Given the description of an element on the screen output the (x, y) to click on. 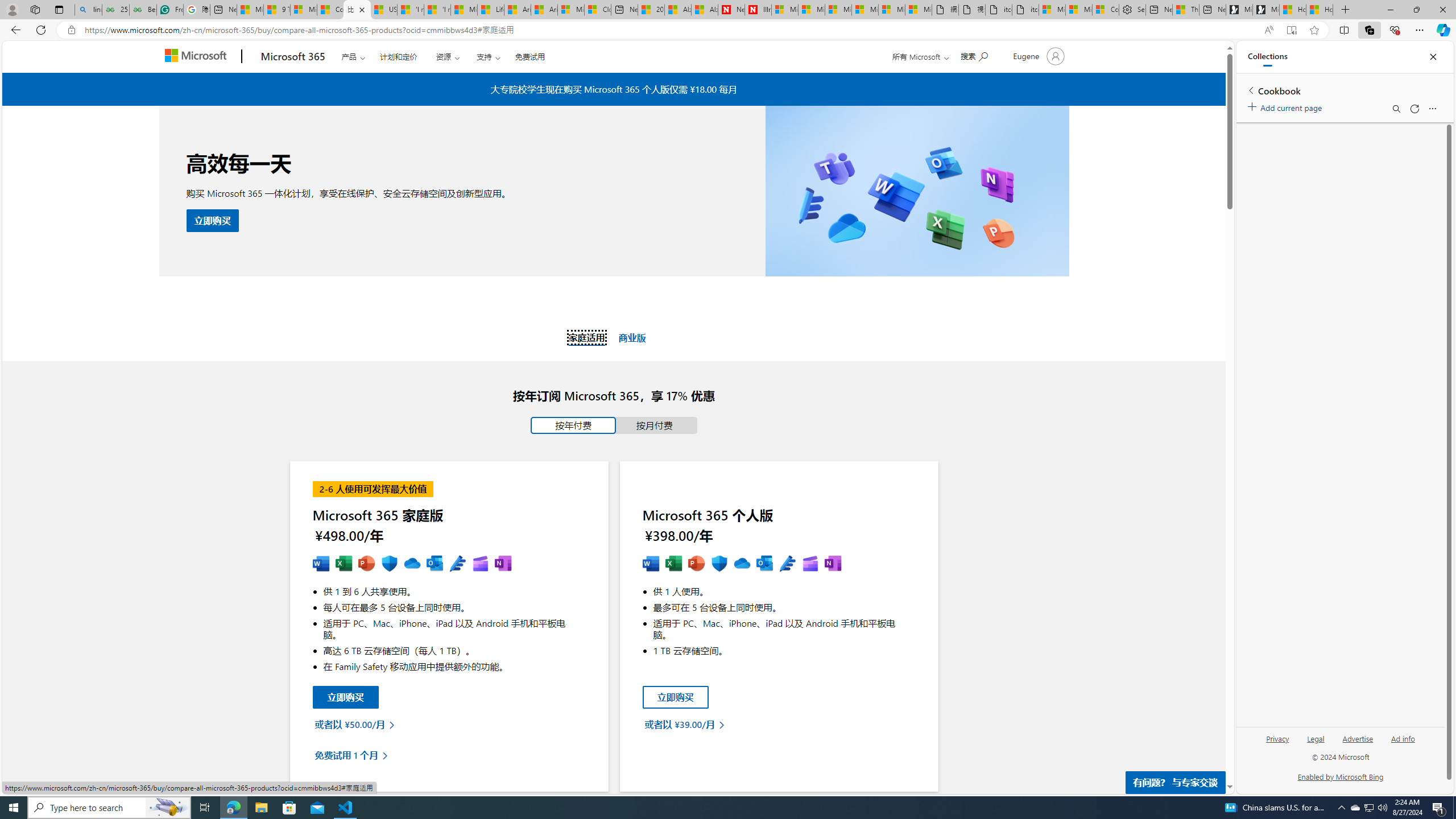
Add current page (1286, 105)
How to Use a TV as a Computer Monitor (1319, 9)
MS PowerPoint (695, 563)
